Given the description of an element on the screen output the (x, y) to click on. 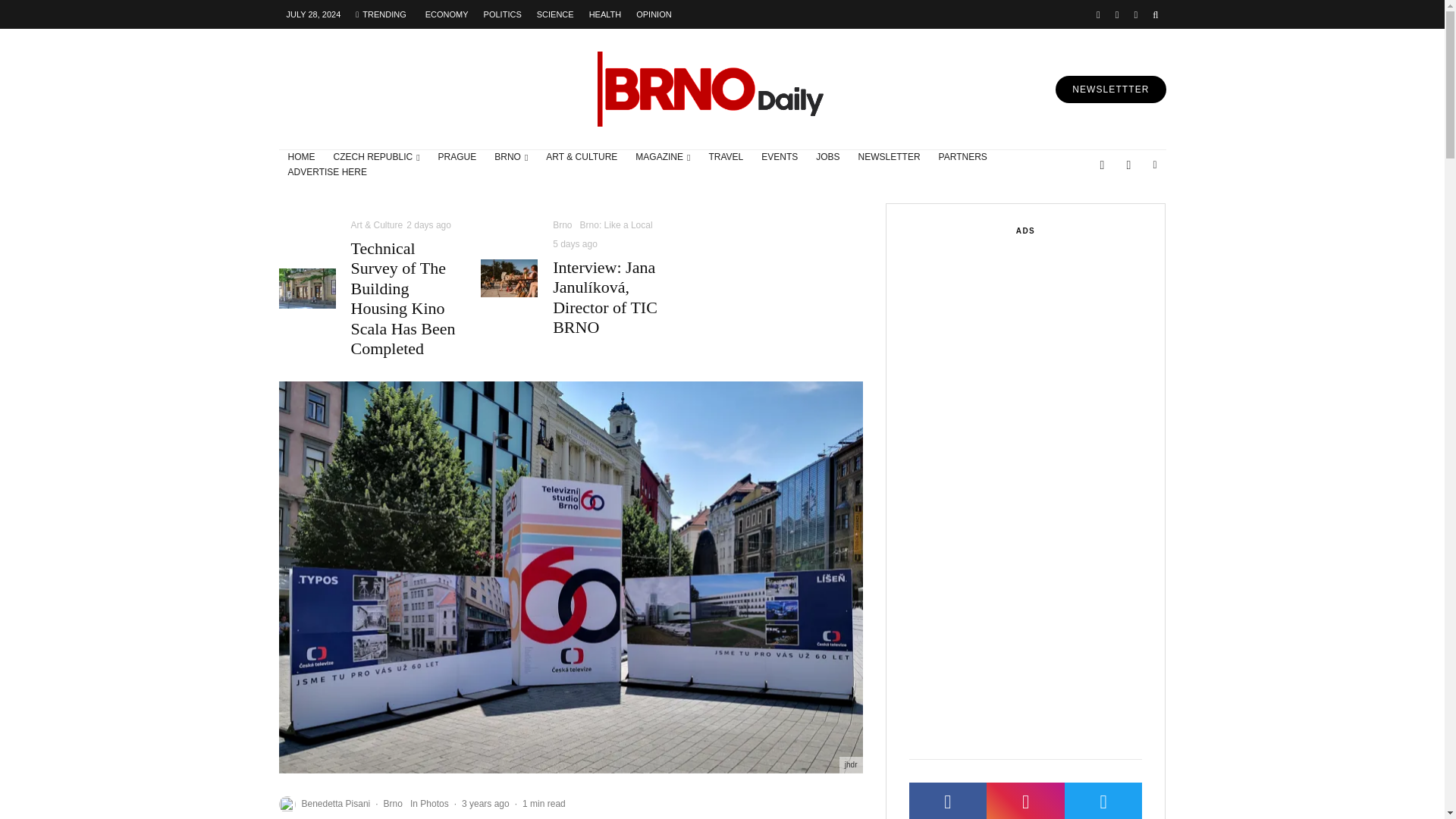
CZECH REPUBLIC (376, 157)
HEALTH (604, 14)
ECONOMY (446, 14)
HOME (301, 157)
NEWSLETTTER (1110, 89)
PRAGUE (457, 157)
TRENDING (380, 14)
SCIENCE (554, 14)
OPINION (653, 14)
POLITICS (502, 14)
